Given the description of an element on the screen output the (x, y) to click on. 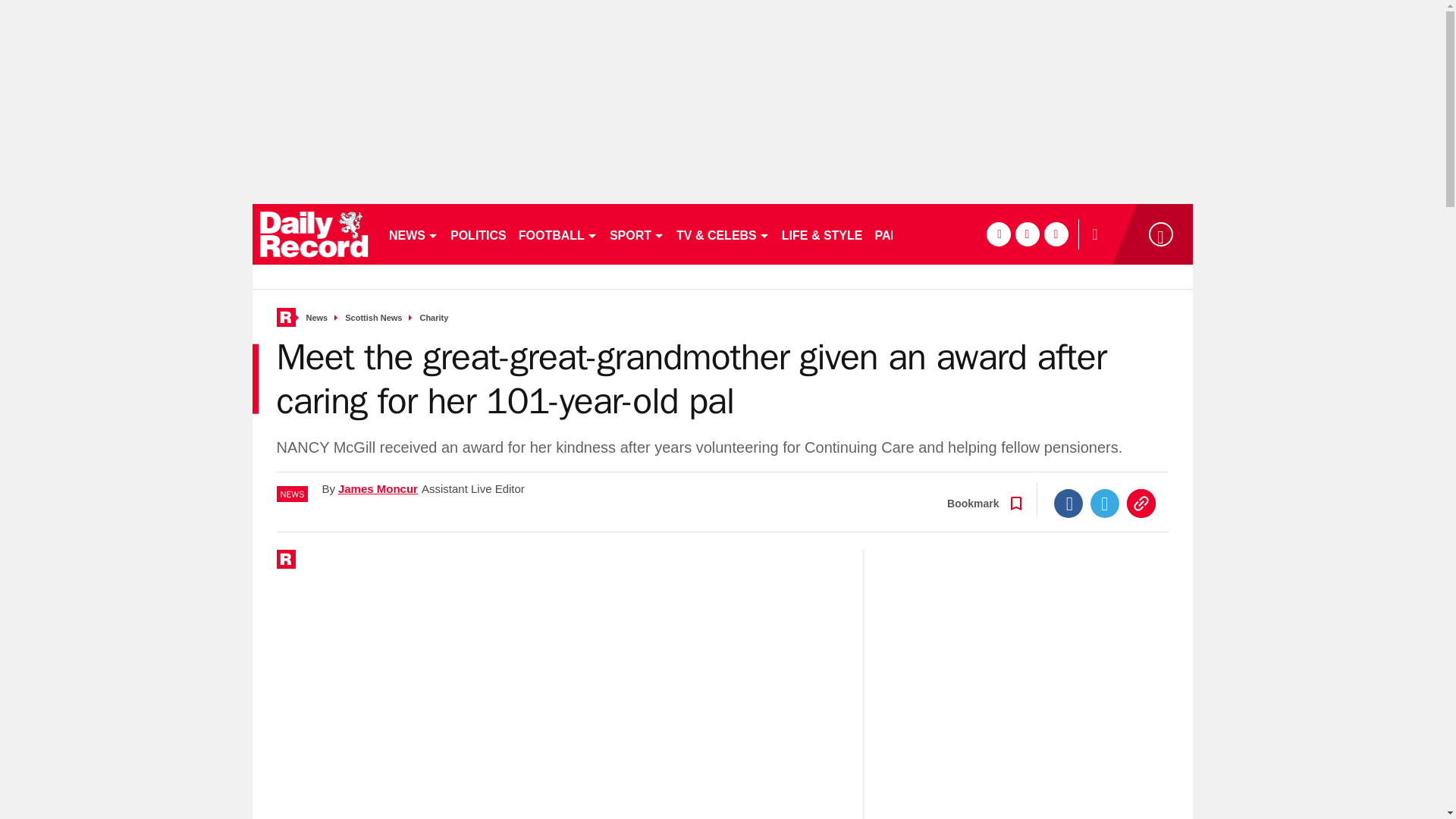
SPORT (636, 233)
instagram (1055, 233)
twitter (1026, 233)
FOOTBALL (558, 233)
dailyrecord (313, 233)
Twitter (1104, 502)
NEWS (413, 233)
facebook (997, 233)
POLITICS (478, 233)
Facebook (1068, 502)
